Given the description of an element on the screen output the (x, y) to click on. 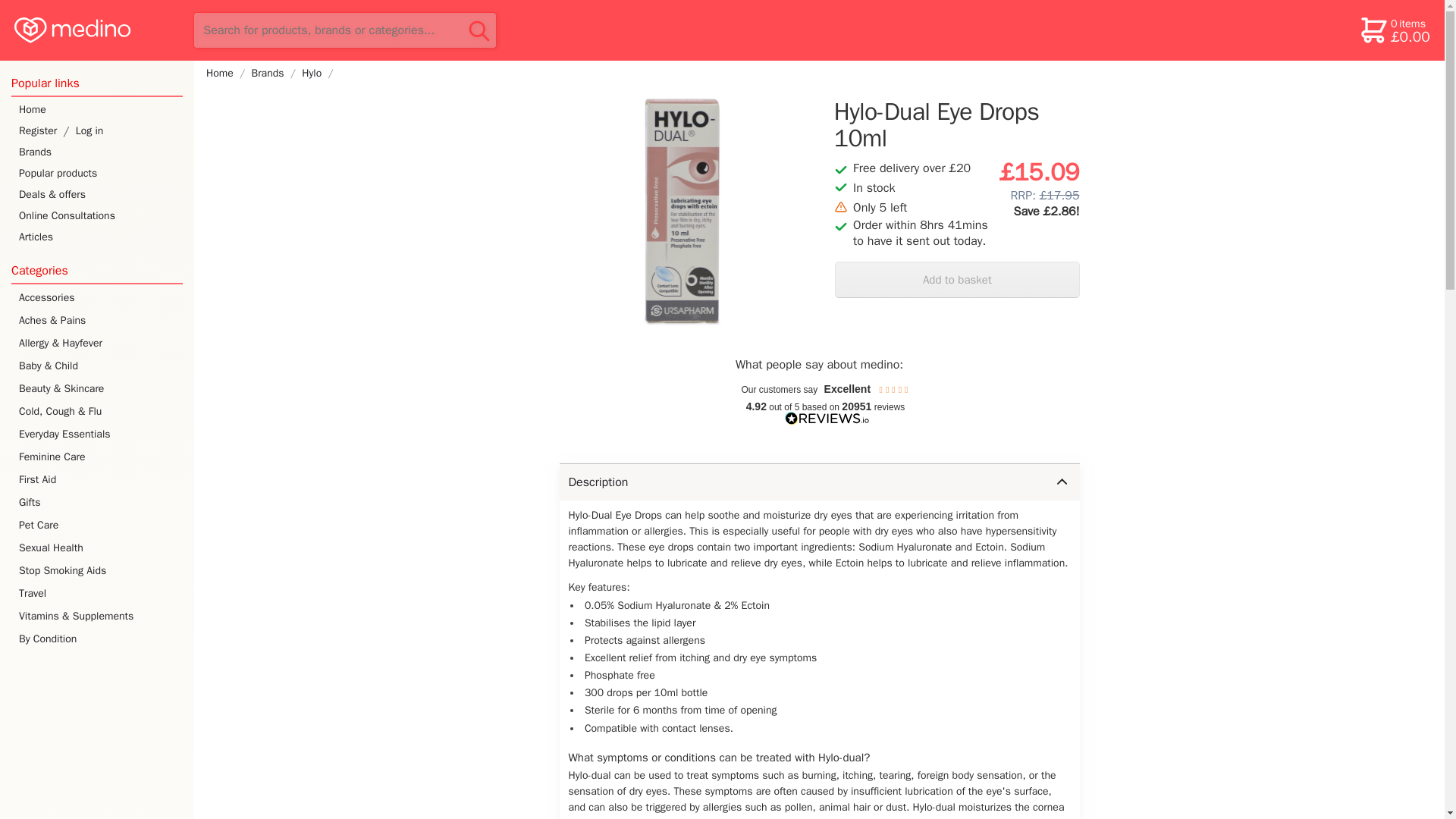
Reviews Text Banner Widget (818, 404)
Popular products (96, 173)
Log in (131, 130)
Register (31, 130)
Online Consultations (96, 215)
home (95, 30)
Articles (96, 237)
Accessories (98, 297)
Brands (96, 151)
Home (96, 109)
